Given the description of an element on the screen output the (x, y) to click on. 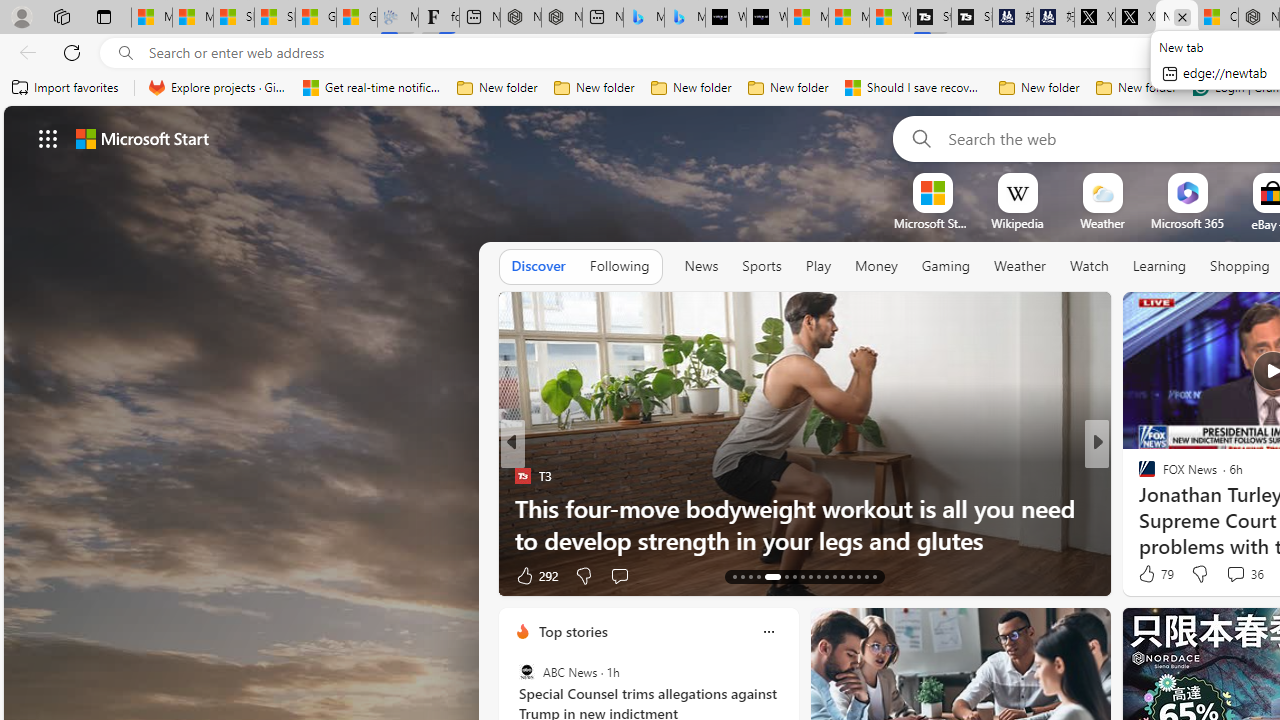
AutomationID: tab-13 (733, 576)
AutomationID: tab-18 (786, 576)
AutomationID: tab-15 (750, 576)
Sports (761, 267)
Search (917, 138)
AutomationID: tab-22 (818, 576)
More options (768, 631)
AutomationID: tab-38 (857, 576)
Money (876, 267)
View comments 103 Comment (1247, 574)
Weather (1020, 265)
Gaming (945, 265)
Watch (1089, 265)
AutomationID: tab-17 (772, 576)
